Given the description of an element on the screen output the (x, y) to click on. 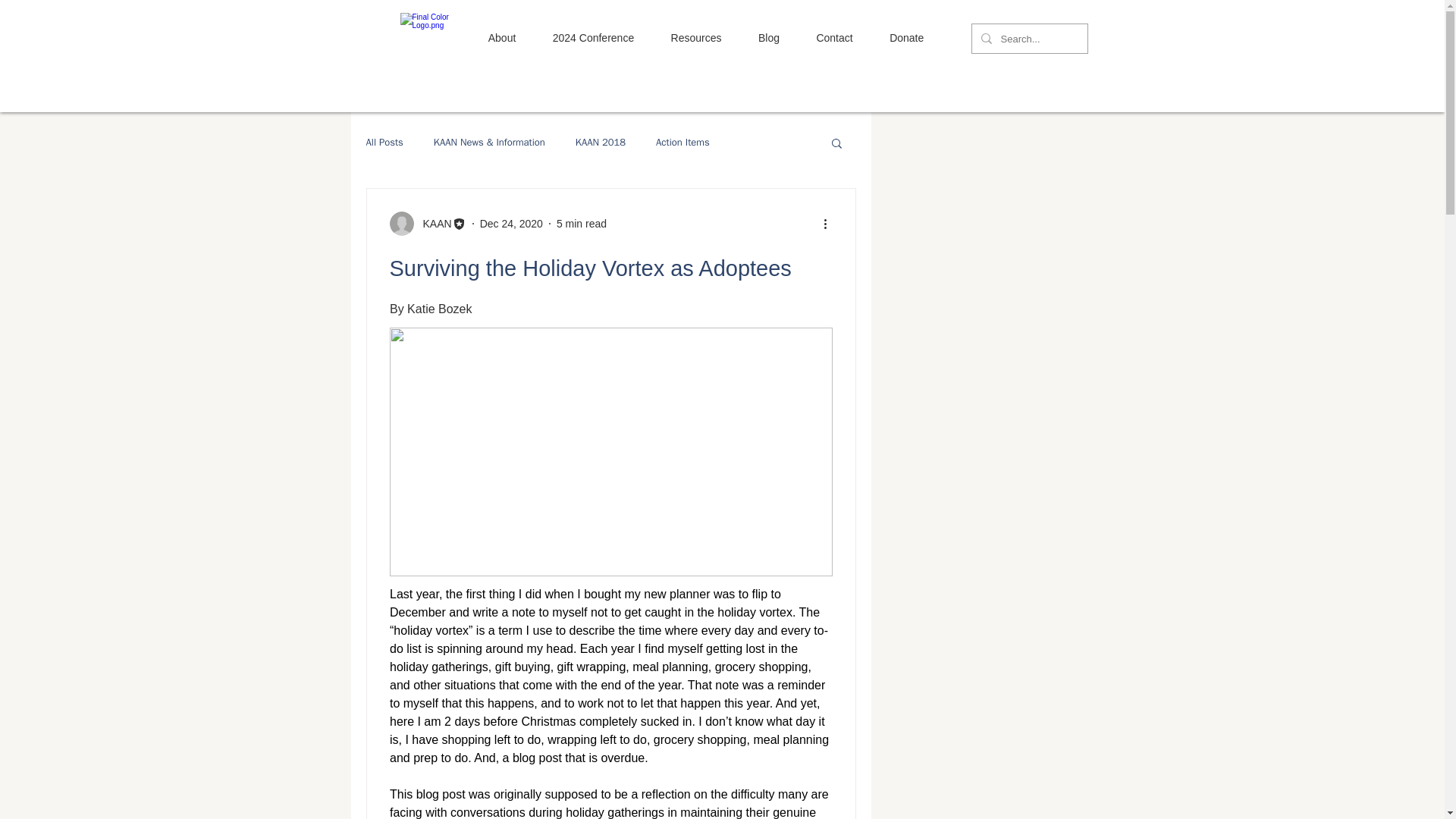
KAAN (427, 223)
Contact (833, 37)
Dec 24, 2020 (511, 223)
All Posts (384, 142)
Resources (695, 37)
Blog (768, 37)
KAAN 2018 (600, 142)
Action Items (683, 142)
About (502, 37)
Donate (907, 37)
KAAN (432, 222)
2024 Conference (593, 37)
5 min read (581, 223)
